Given the description of an element on the screen output the (x, y) to click on. 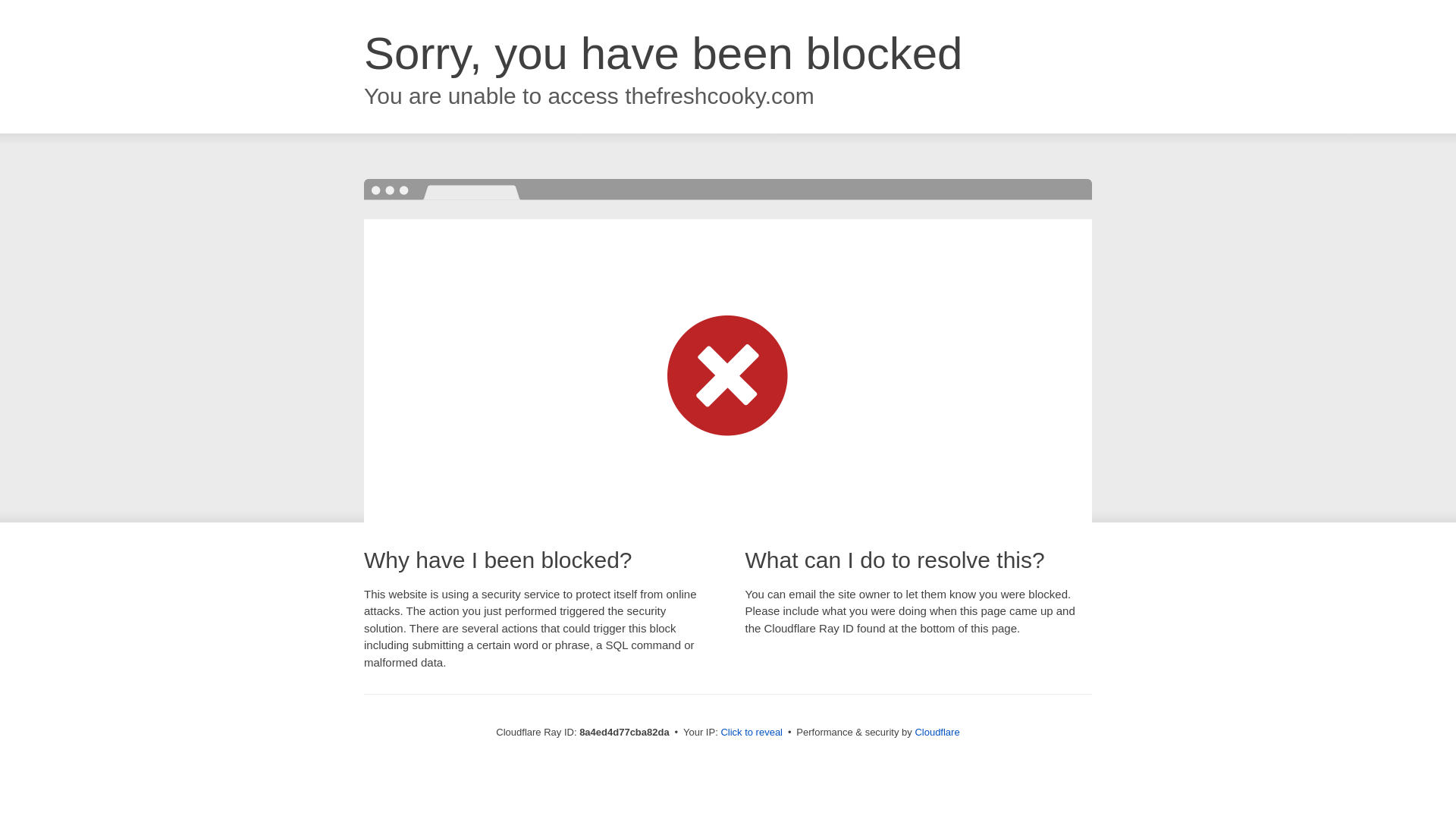
Cloudflare (936, 731)
Click to reveal (751, 732)
